Given the description of an element on the screen output the (x, y) to click on. 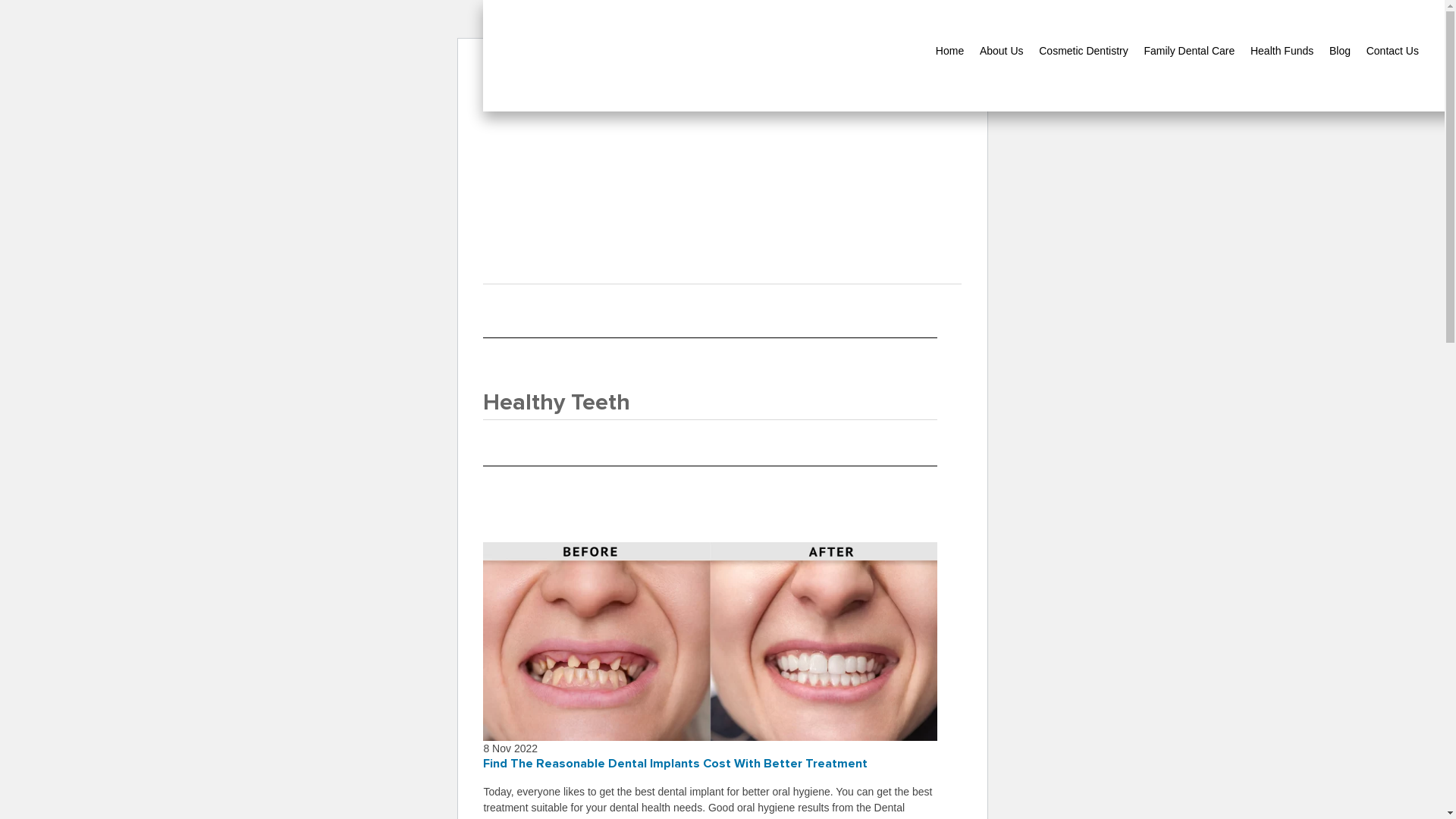
Contact Us Element type: text (1392, 51)
Home Element type: text (949, 51)
Skip to main content Element type: text (483, 59)
Family Dental Care Element type: text (1188, 51)
HAWTHORN EAST DENTAL Element type: text (755, 56)
About Us Element type: text (1001, 51)
Health Funds Element type: text (1281, 51)
Blog Element type: text (1339, 51)
Cosmetic Dentistry Element type: text (1082, 51)
